Given the description of an element on the screen output the (x, y) to click on. 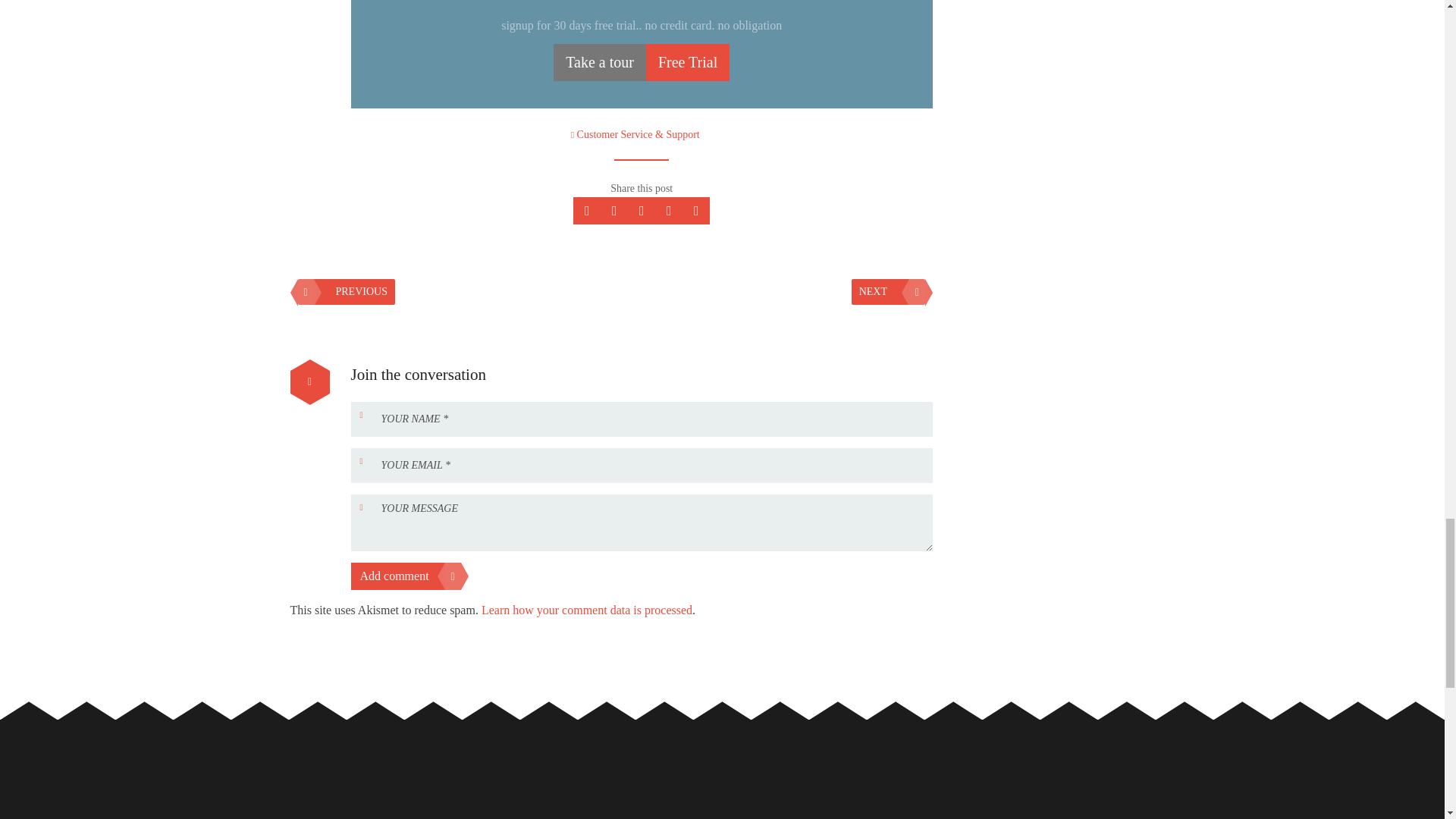
Add comment (405, 575)
Share on LinkedIn (696, 210)
Pin on Pinterest (668, 210)
NEXT (887, 291)
Free Trial (687, 62)
Take a tour (599, 62)
PREVIOUS (345, 291)
Share on Twitter (586, 210)
Share on Facebook (641, 210)
Learn how your comment data is processed (587, 609)
